Given the description of an element on the screen output the (x, y) to click on. 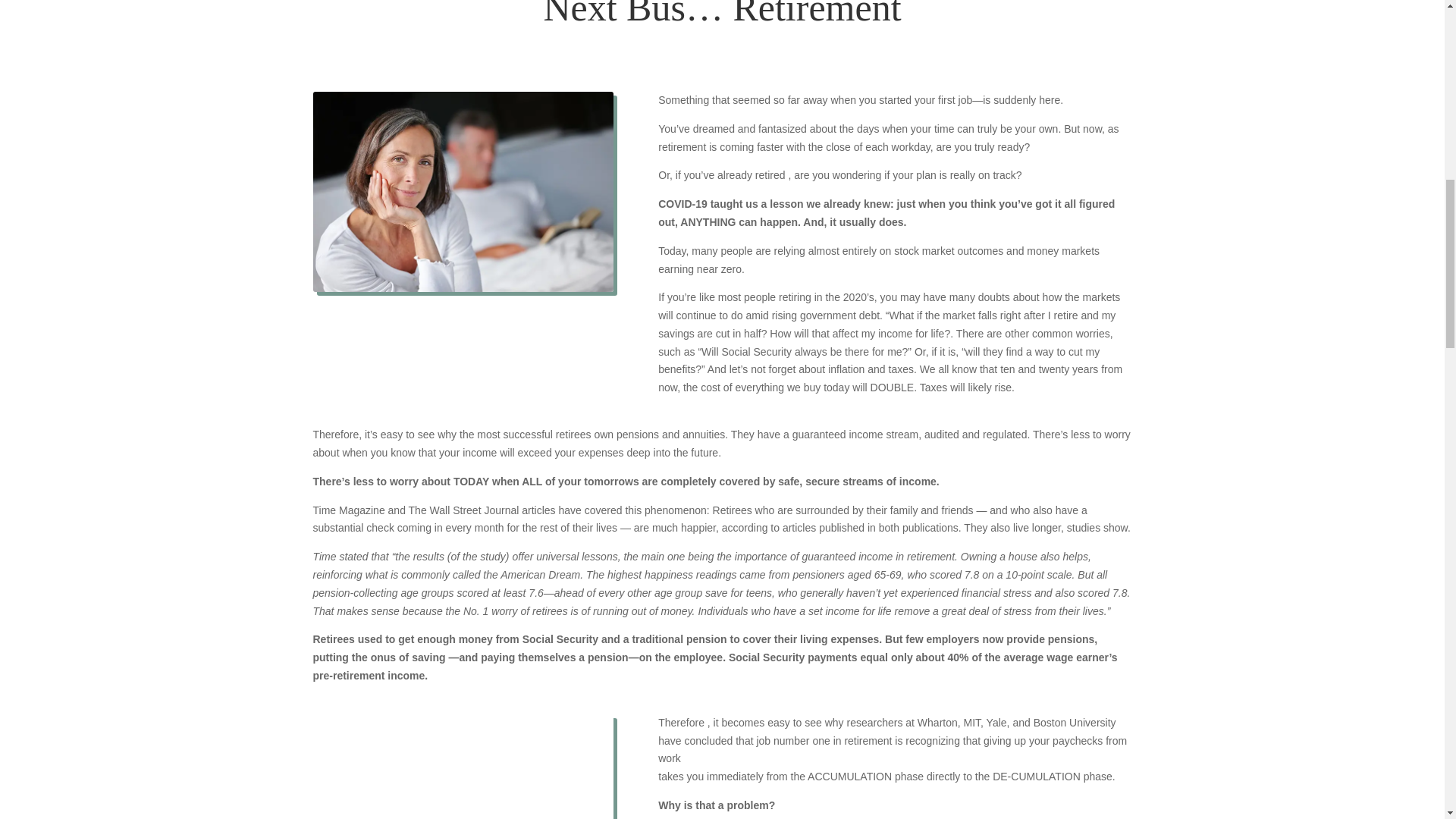
Feeling refreshed! (462, 766)
Starting the day in a relaxed way (462, 191)
